Given the description of an element on the screen output the (x, y) to click on. 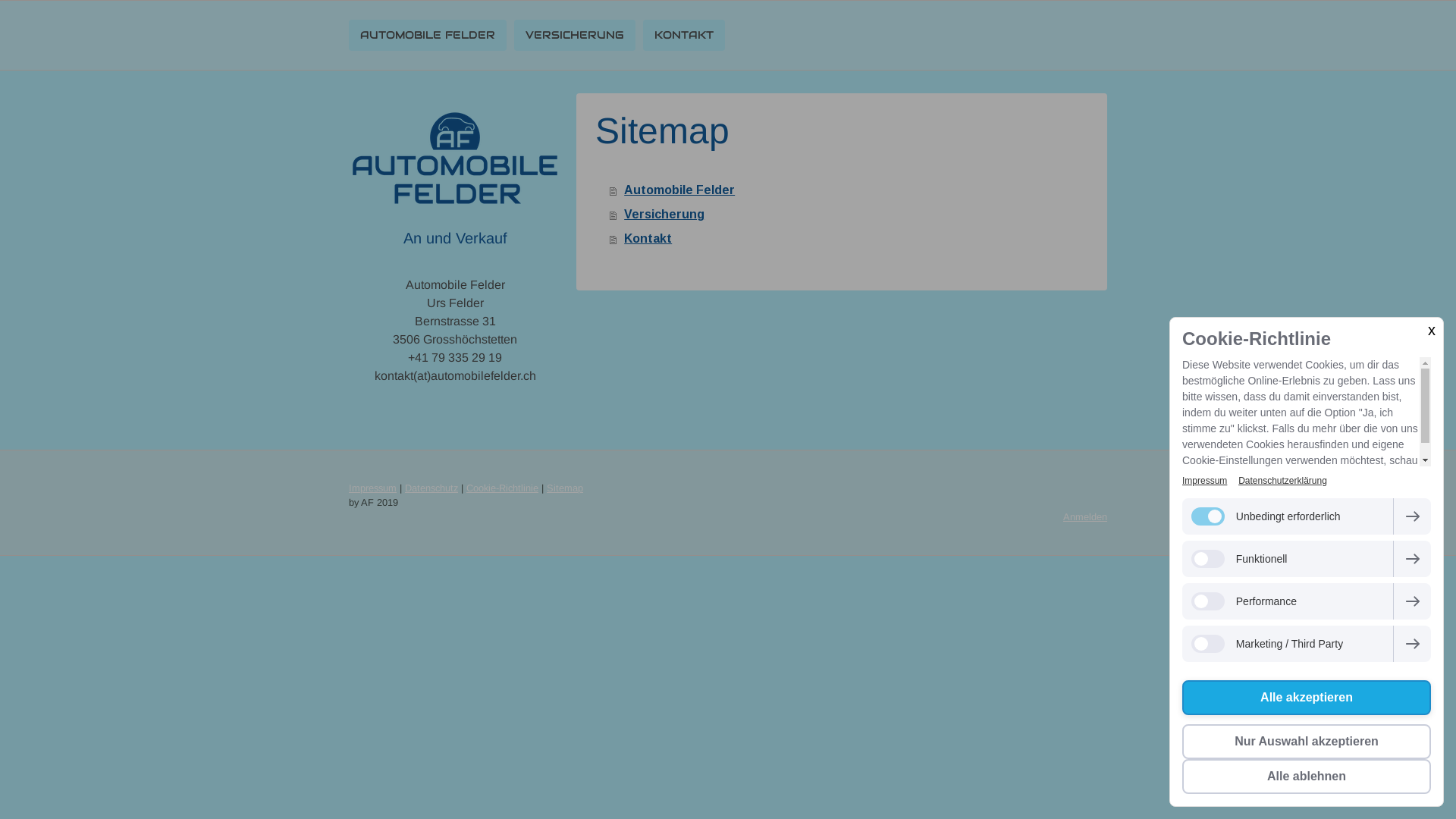
AUTOMOBILE FELDER Element type: text (427, 34)
Datenschutz Element type: text (431, 487)
Impressum Element type: text (1204, 480)
KONTAKT Element type: text (683, 34)
Sitemap Element type: text (564, 487)
Versicherung Element type: text (850, 214)
Automobile Felder Element type: text (850, 190)
VERSICHERUNG Element type: text (574, 34)
Alle akzeptieren Element type: text (1306, 697)
Nur Auswahl akzeptieren Element type: text (1306, 741)
Cookie-Richtlinie Element type: text (502, 487)
Kontakt Element type: text (850, 238)
Anmelden Element type: text (1085, 516)
Impressum Element type: text (372, 487)
Alle ablehnen Element type: text (1306, 776)
